Given the description of an element on the screen output the (x, y) to click on. 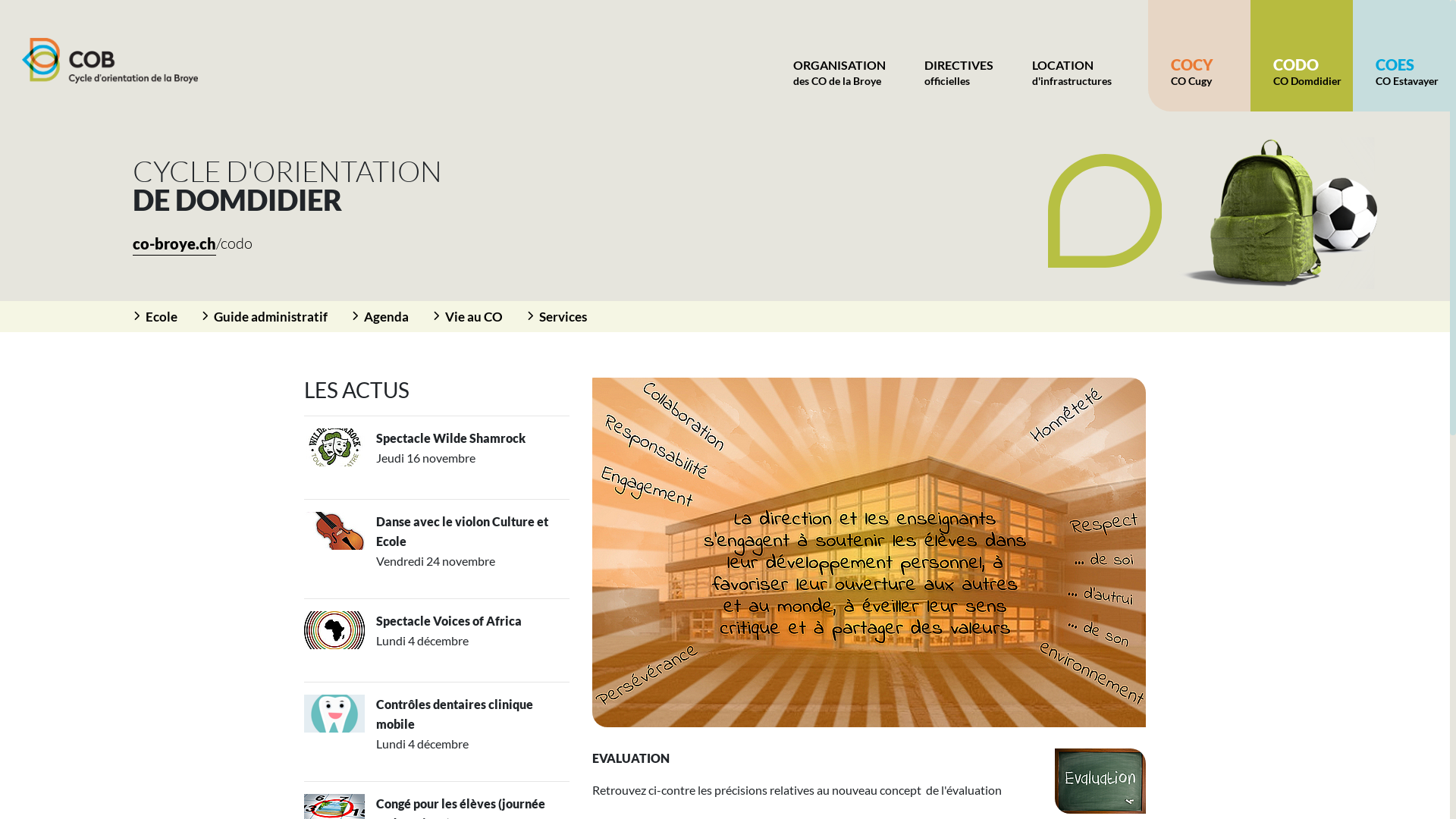
Agenda Element type: text (392, 316)
COCY
CO Cugy Element type: text (1199, 55)
ORGANISATION
des CO de la Broye Element type: text (839, 55)
Guide administratif Element type: text (276, 316)
COES
CO Estavayer Element type: text (1403, 55)
Ecole Element type: text (167, 316)
co-broye.ch Element type: text (174, 243)
Vie au CO Element type: text (480, 316)
/codo Element type: text (234, 243)
CODO
CO Domdidier
(CURRENT) Element type: text (1301, 55)
DIRECTIVES
officielles Element type: text (958, 55)
Services Element type: text (569, 316)
LOCATION
d'infrastructures Element type: text (1071, 55)
